Given the description of an element on the screen output the (x, y) to click on. 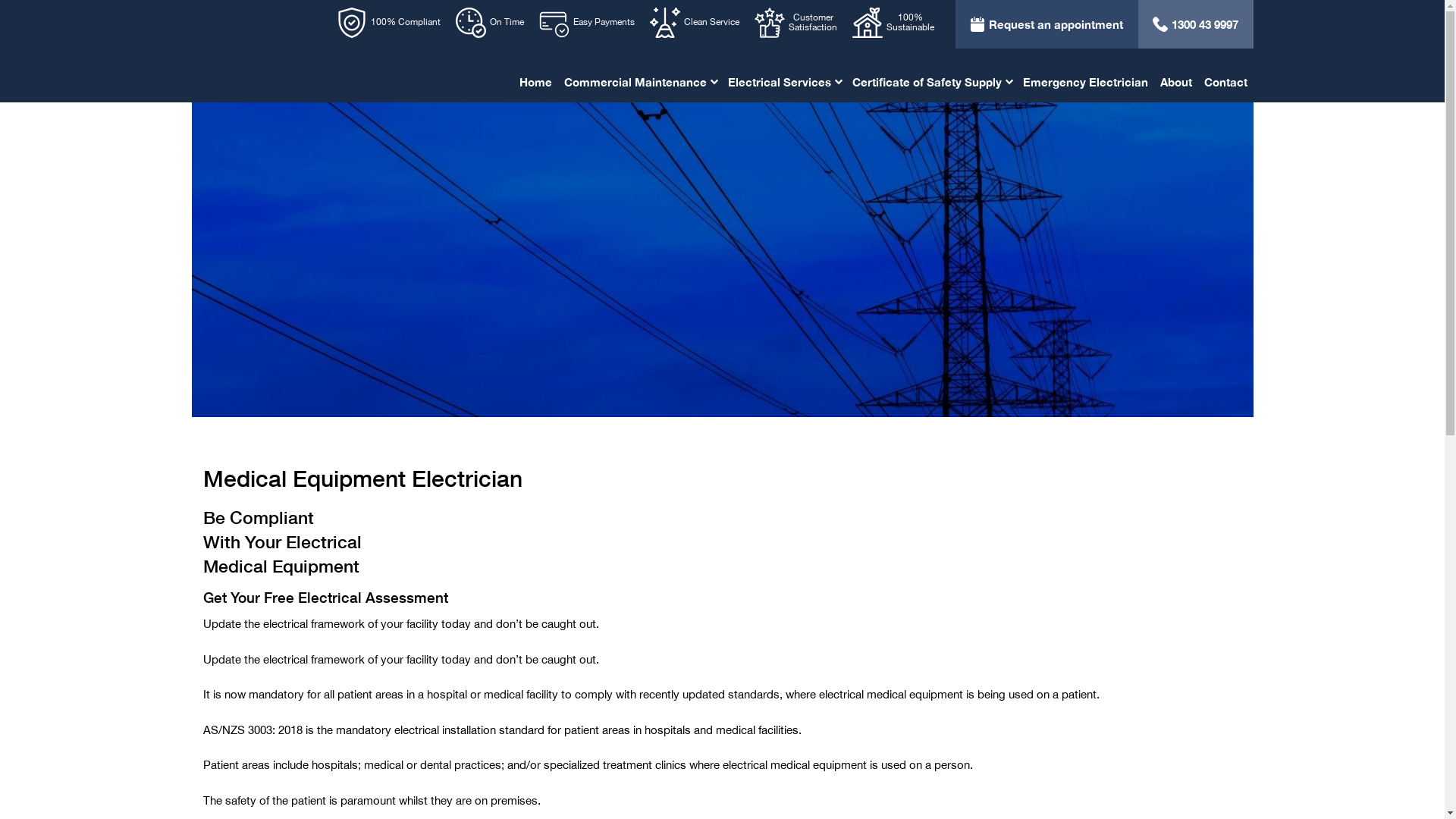
Home Element type: text (534, 81)
1300 43 9997 Element type: text (1194, 24)
Contact Element type: text (1225, 81)
About Element type: text (1176, 81)
Commercial Maintenance Element type: text (639, 81)
Emergency Electrician Element type: text (1084, 81)
Request an appointment Element type: text (1046, 24)
Certificate of Safety Supply Element type: text (931, 81)
Electrical Services Element type: text (783, 81)
